Given the description of an element on the screen output the (x, y) to click on. 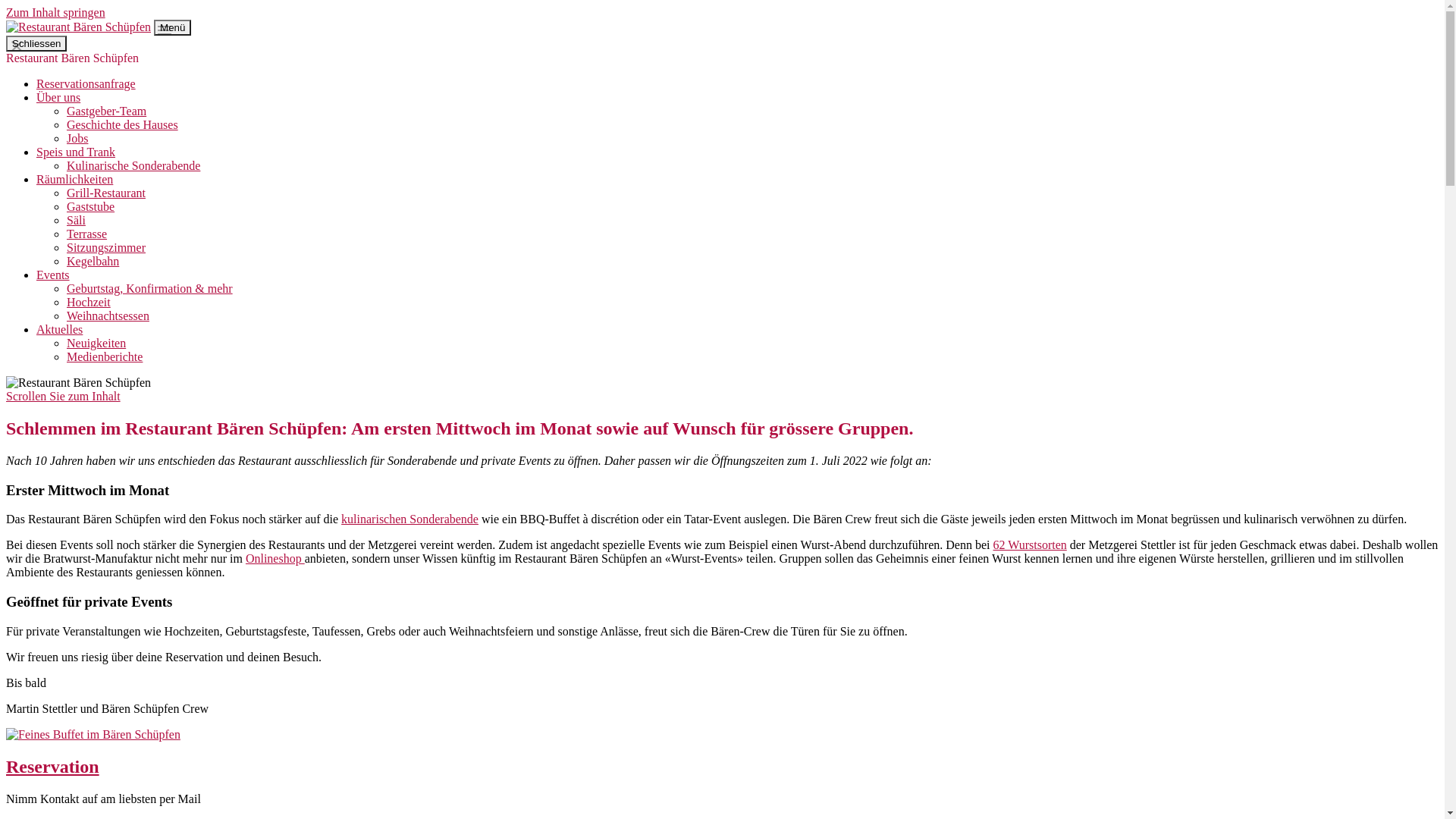
Speis und Trank Element type: text (75, 151)
Onlineshop Element type: text (274, 558)
Terrasse Element type: text (86, 233)
Reservationsanfrage Element type: text (85, 83)
Schliessen Element type: text (36, 43)
Kegelbahn Element type: text (92, 260)
Medienberichte Element type: text (104, 356)
Hochzeit Element type: text (88, 301)
Scrollen Sie zum Inhalt Element type: text (63, 395)
Gastgeber-Team Element type: text (106, 110)
Aktuelles Element type: text (59, 329)
Gaststube Element type: text (90, 206)
Geschichte des Hauses Element type: text (122, 124)
Neuigkeiten Element type: text (95, 342)
Sitzungszimmer Element type: text (105, 247)
Grill-Restaurant Element type: text (105, 192)
Kulinarische Sonderabende Element type: text (133, 165)
Jobs Element type: text (76, 137)
Zum Inhalt springen Element type: text (55, 12)
Geburtstag, Konfirmation & mehr Element type: text (149, 288)
62 Wurstsorten Element type: text (1029, 544)
kulinarischen Sonderabende Element type: text (409, 518)
Weihnachtsessen Element type: text (107, 315)
Events Element type: text (52, 274)
Reservation Element type: text (52, 766)
